Given the description of an element on the screen output the (x, y) to click on. 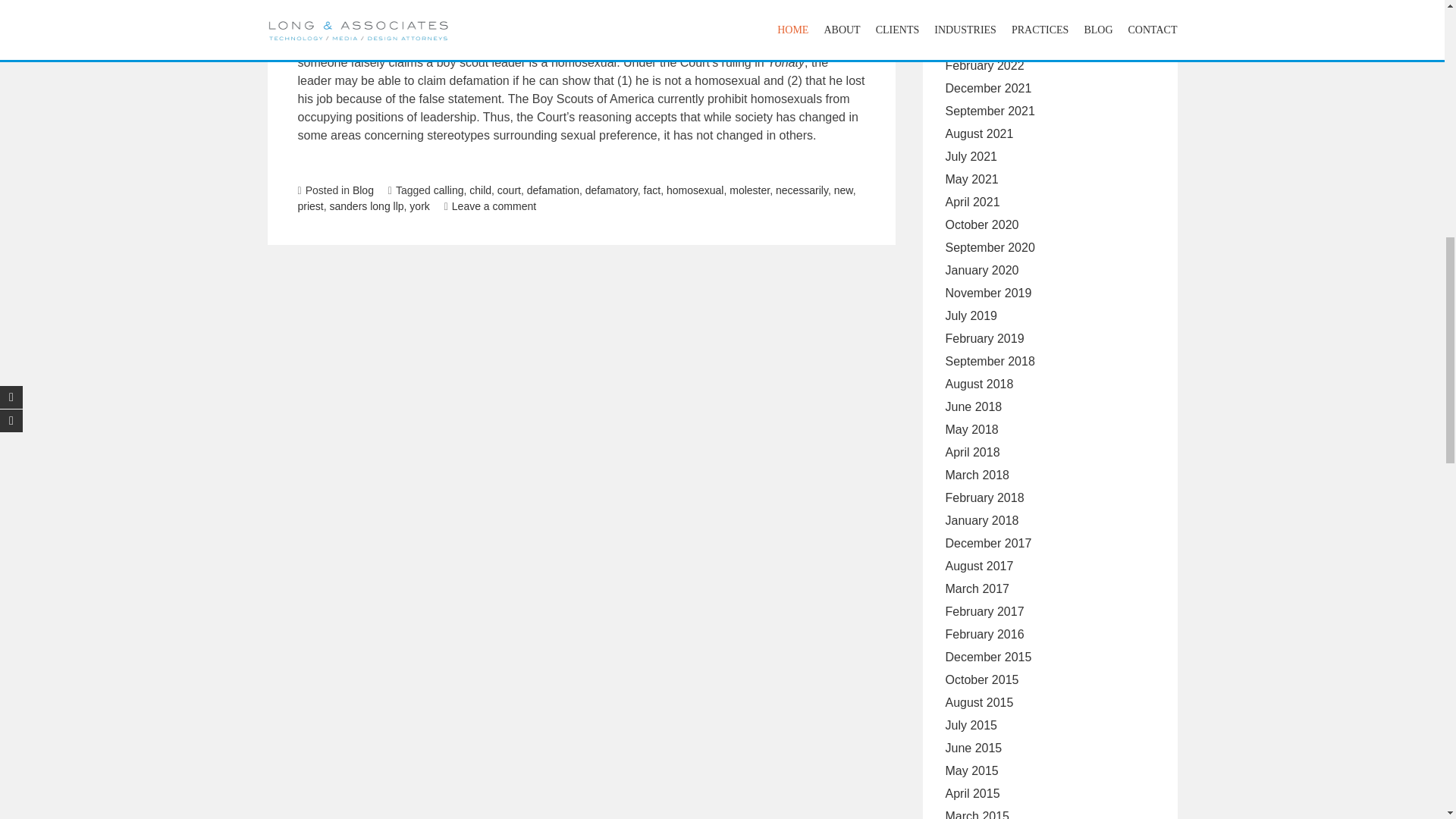
priest (310, 205)
homosexual (694, 190)
york (419, 205)
new (843, 190)
child (480, 190)
fact (652, 190)
calling (448, 190)
necessarily (802, 190)
defamatory (611, 190)
Leave a comment (489, 205)
